Given the description of an element on the screen output the (x, y) to click on. 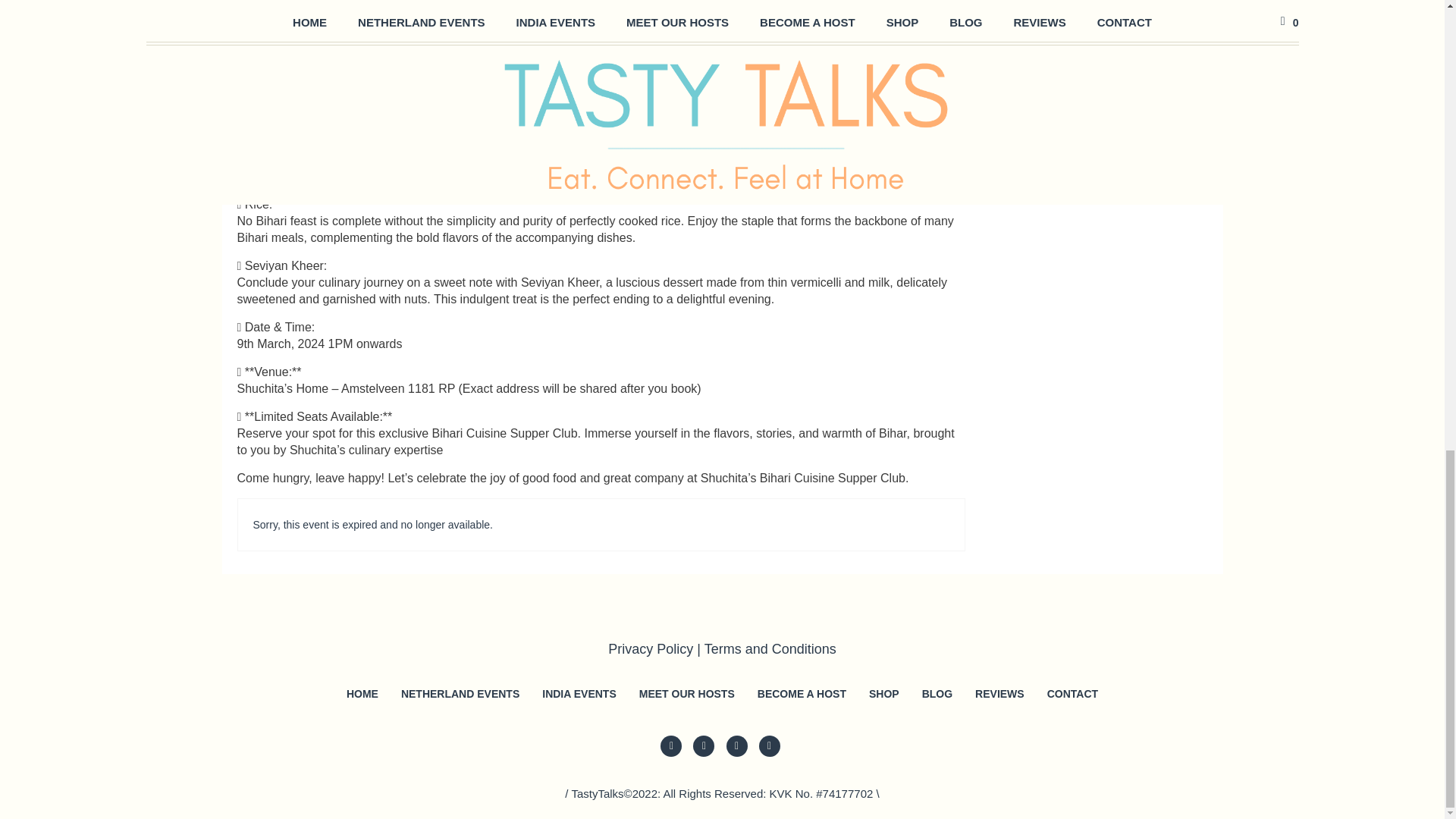
BECOME A HOST (801, 693)
NETHERLAND EVENTS (460, 693)
Facebook (737, 745)
REVIEWS (1000, 693)
INDIA EVENTS (578, 693)
Instagram (671, 745)
Linkedin (703, 745)
SHOP (884, 693)
MeetUp (769, 745)
BLOG (936, 693)
